Given the description of an element on the screen output the (x, y) to click on. 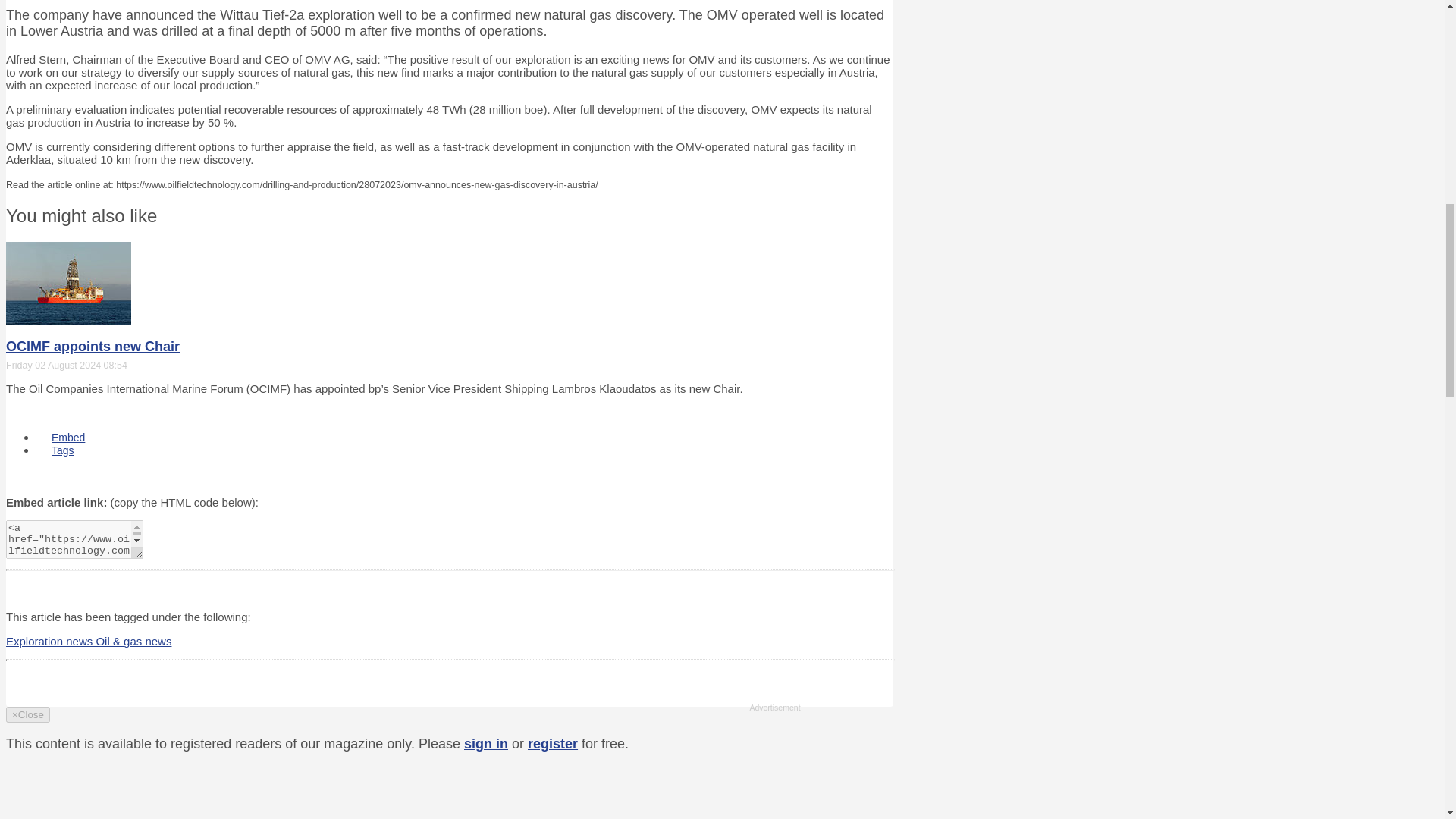
Embed (68, 437)
register (552, 743)
Tags (62, 450)
Exploration news (50, 640)
sign in (486, 743)
OCIMF appoints new Chair (92, 346)
